Given the description of an element on the screen output the (x, y) to click on. 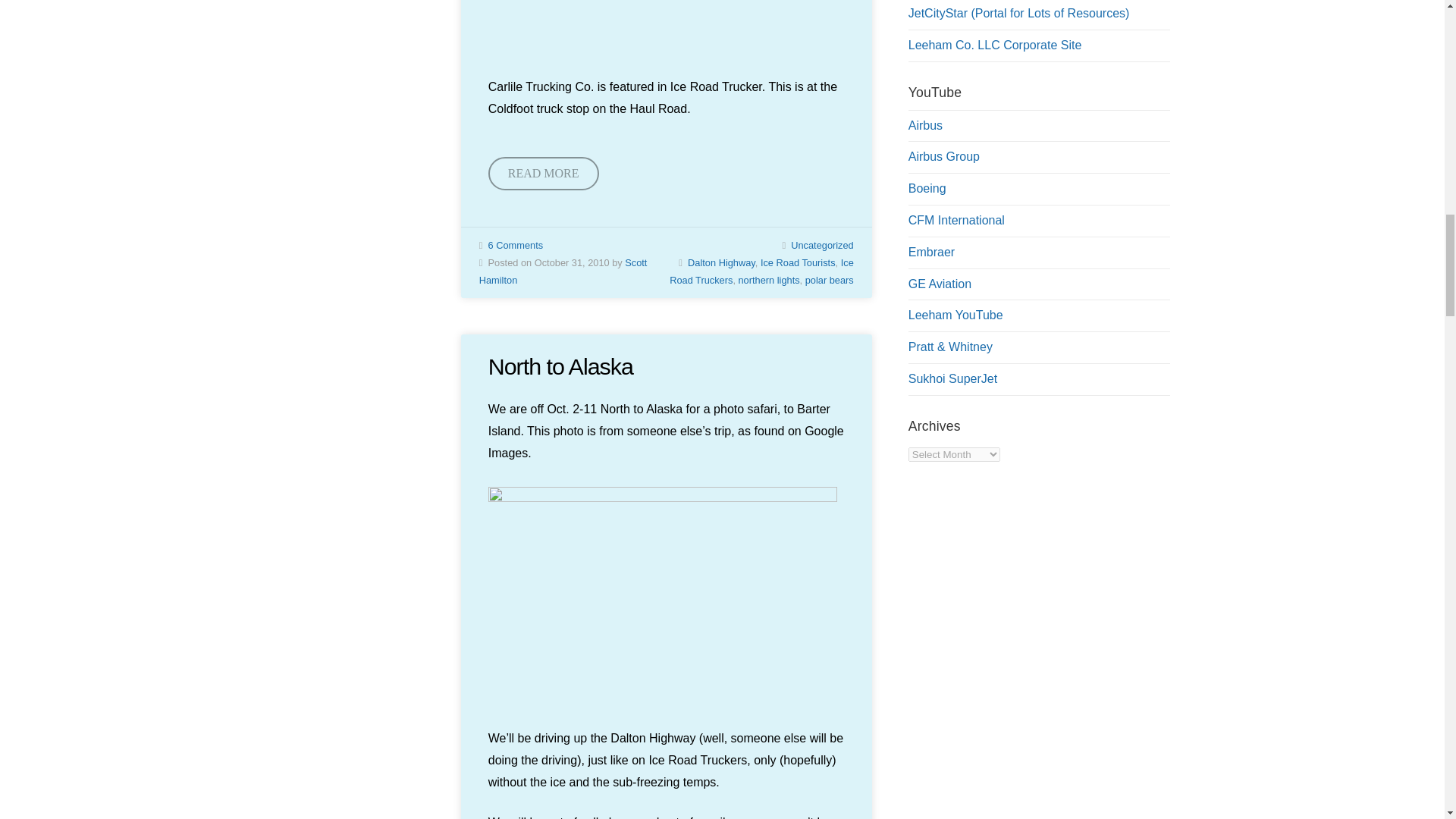
polar bear (662, 595)
Posts by Scott Hamilton (563, 271)
northern lights (768, 279)
Ice Road Truckers (761, 271)
READ MORE (542, 173)
Carlisle (665, 22)
6 Comments (515, 244)
North to Alaska (560, 365)
Scott Hamilton (563, 271)
Uncategorized (821, 244)
Ice Road Tourists (797, 262)
polar bears (829, 279)
Dalton Highway (721, 262)
